Given the description of an element on the screen output the (x, y) to click on. 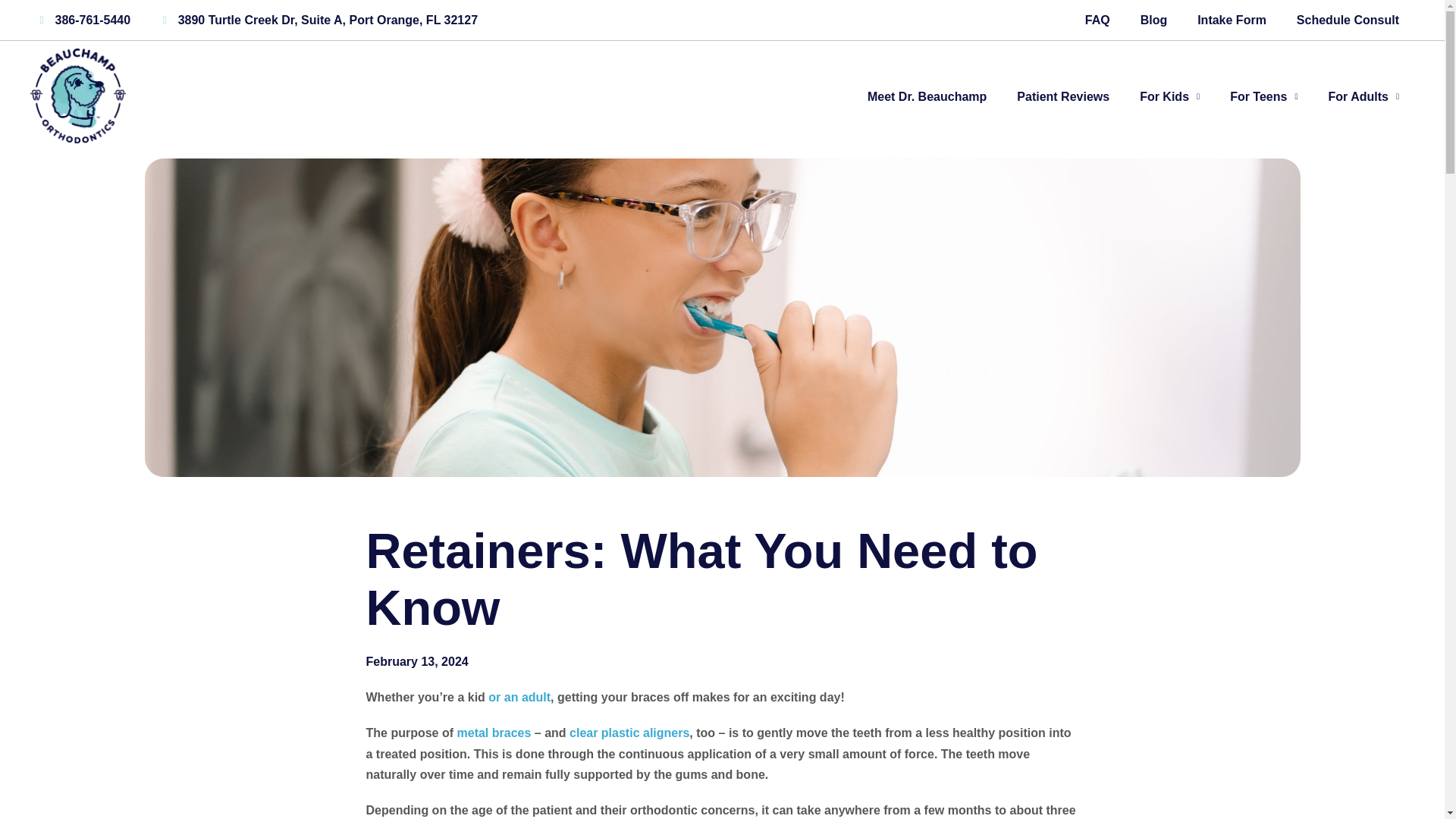
386-761-5440 (80, 19)
FAQ (1097, 20)
Schedule Consult (1347, 20)
Intake Form (1231, 20)
Blog (1153, 20)
Patient Reviews (1062, 96)
For Adults (1364, 96)
Meet Dr. Beauchamp (926, 96)
